Given the description of an element on the screen output the (x, y) to click on. 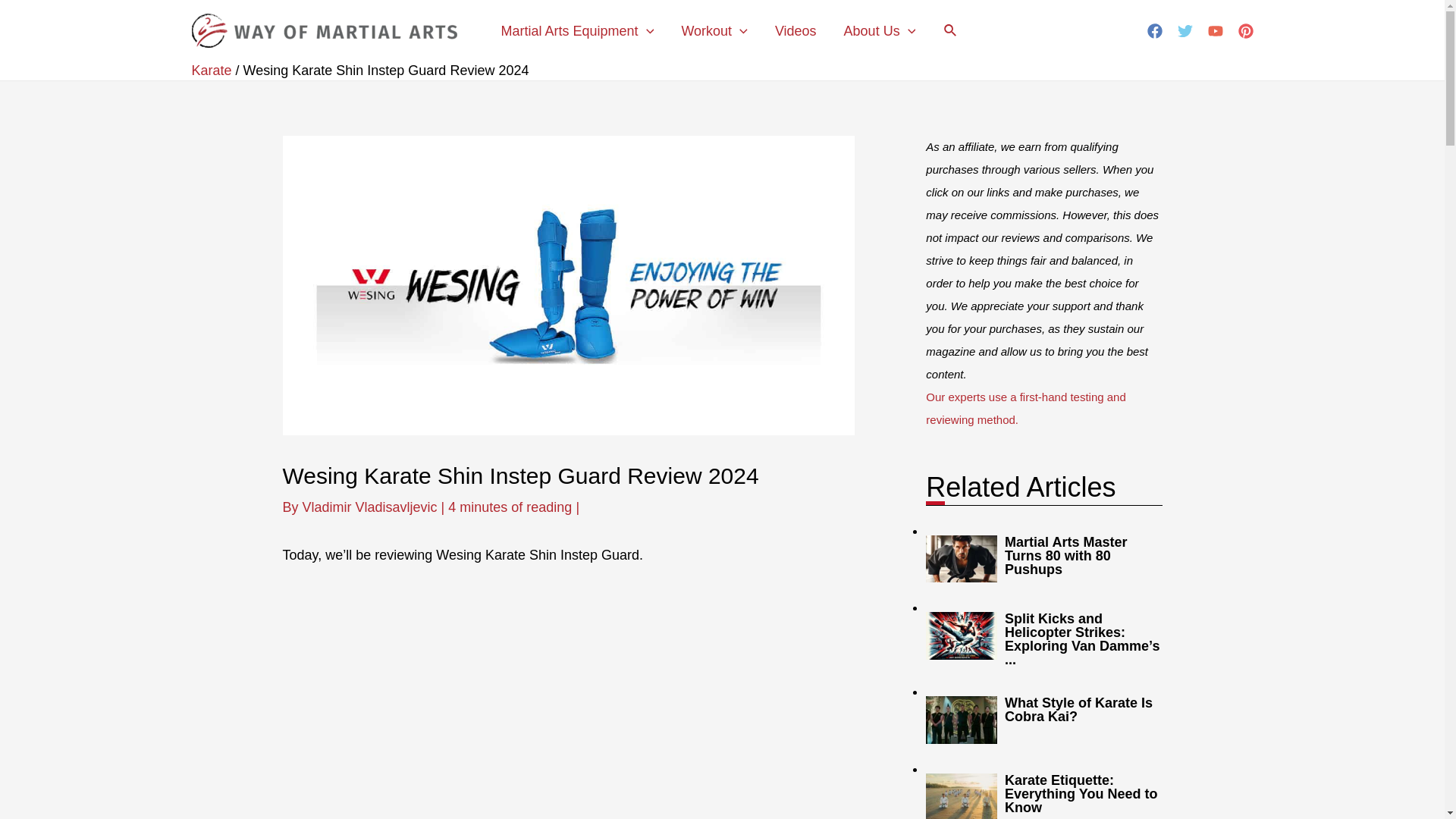
About Us (879, 30)
Karate (210, 70)
Martial Arts Equipment (576, 30)
Videos (795, 30)
View all posts by Vladimir Vladisavljevic (371, 507)
Workout (713, 30)
